Given the description of an element on the screen output the (x, y) to click on. 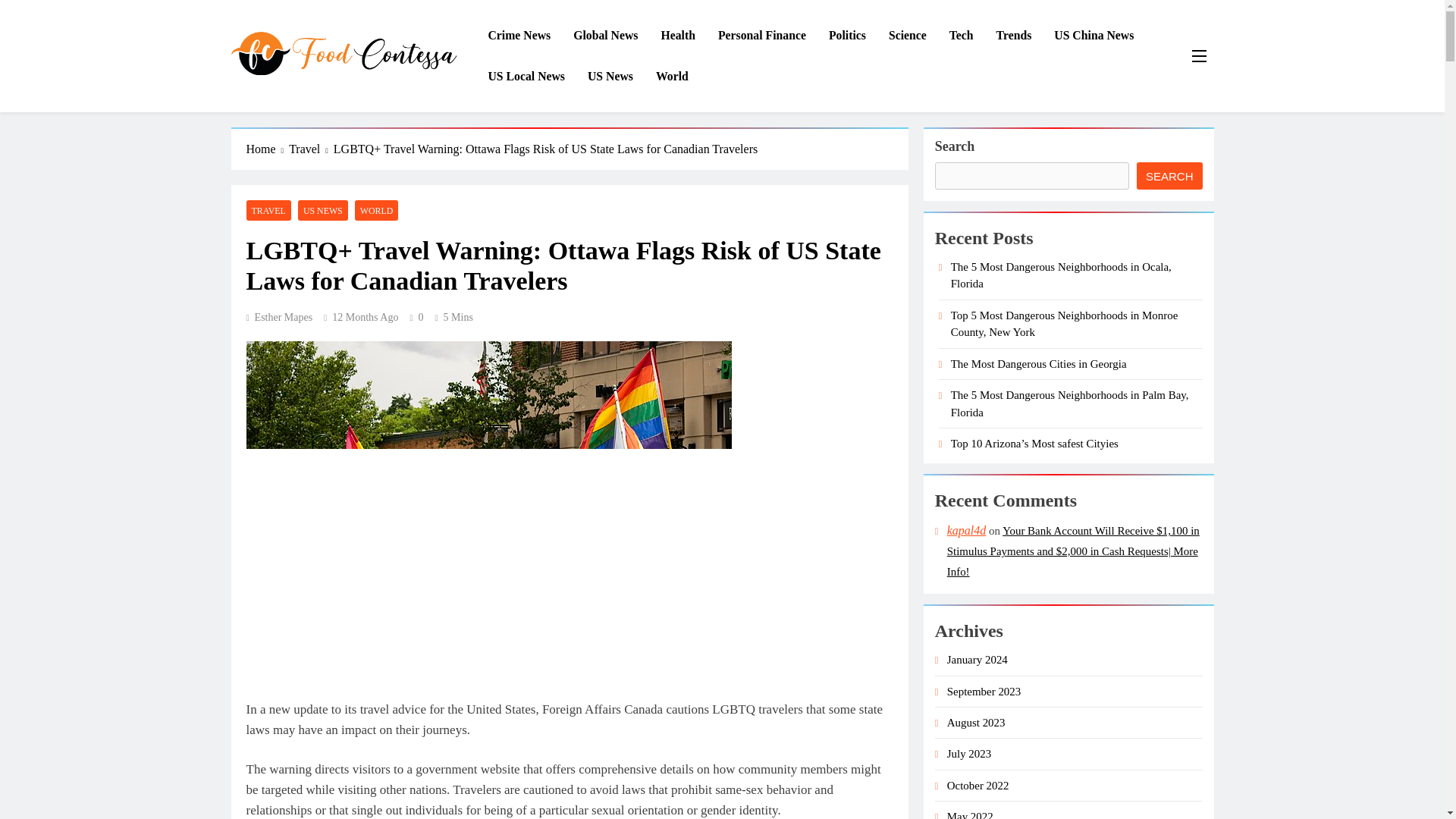
Crime News (519, 35)
US Local News (526, 76)
Food Contessa (304, 96)
Politics (846, 35)
US China News (1093, 35)
Science (907, 35)
Trends (1014, 35)
Health (677, 35)
US News (610, 76)
World (672, 76)
